Given the description of an element on the screen output the (x, y) to click on. 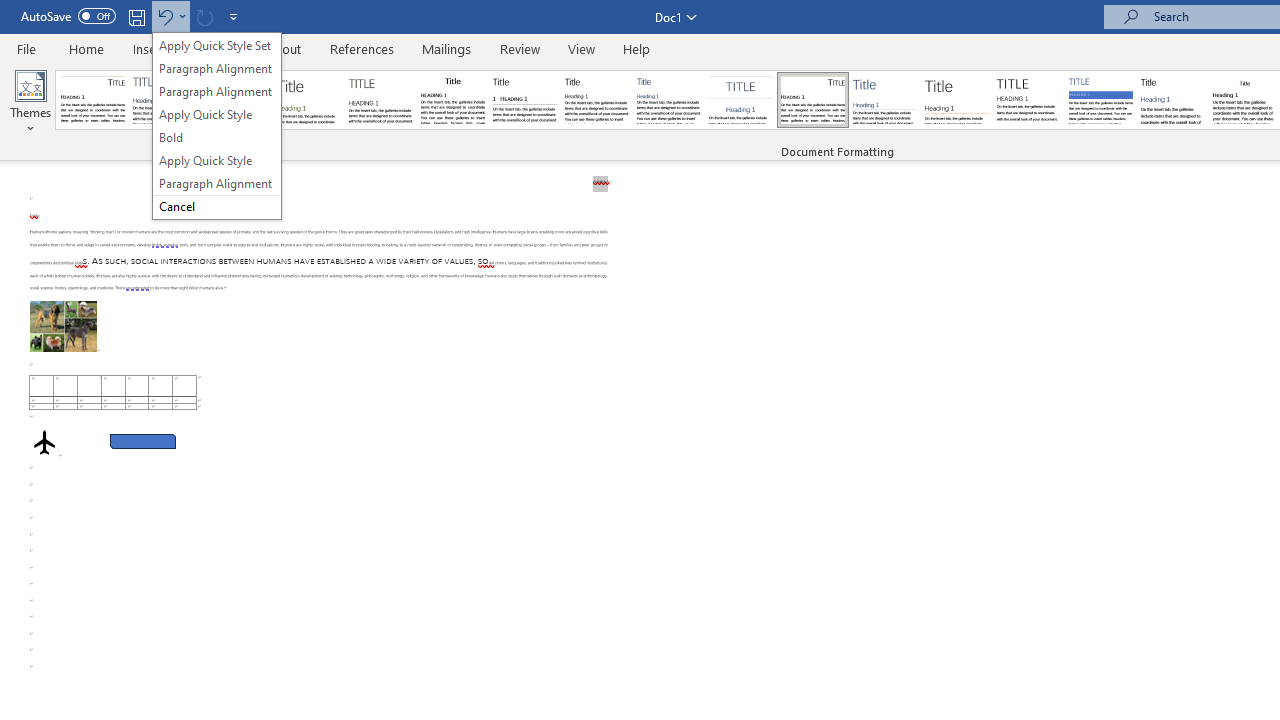
Undo Apply Quick Style Set (164, 15)
Lines (Distinctive) (812, 100)
Can't Repeat (204, 15)
Document (93, 100)
Lines (Stylish) (957, 100)
Word (1172, 100)
